Given the description of an element on the screen output the (x, y) to click on. 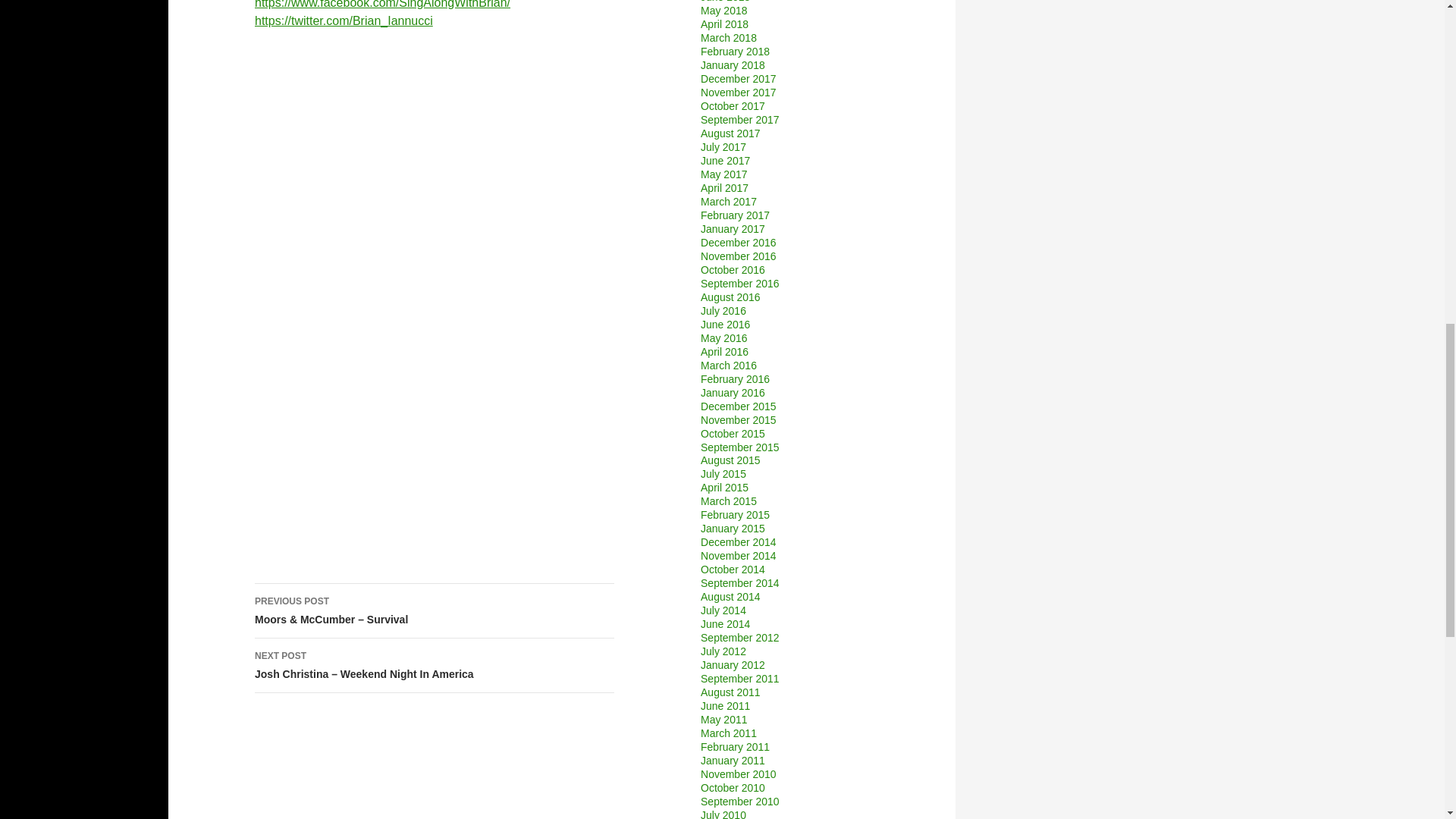
Spotify Embed: You Stole My Heart Away (434, 465)
